Given the description of an element on the screen output the (x, y) to click on. 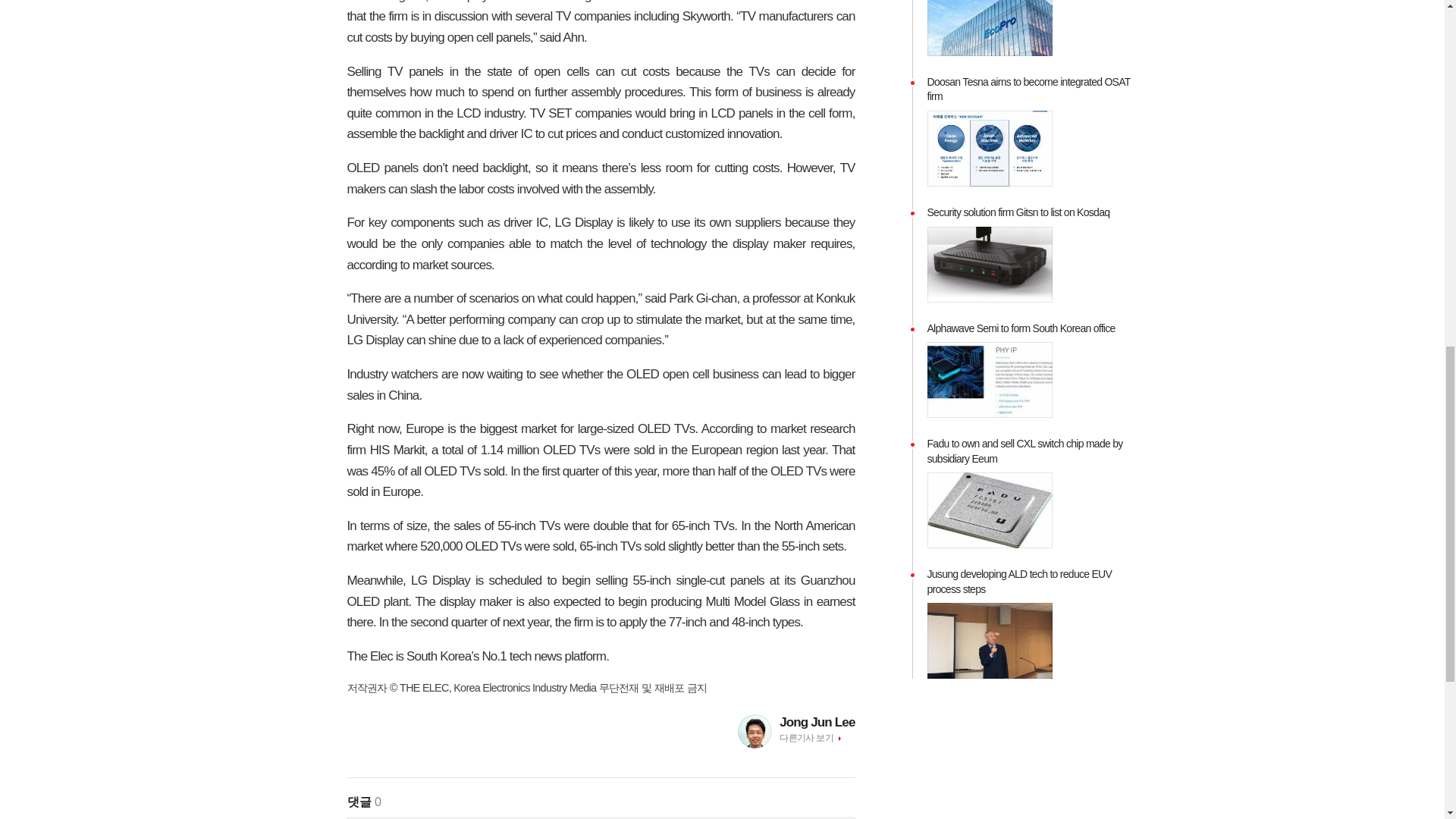
Jong Jun Lee (816, 722)
